Given the description of an element on the screen output the (x, y) to click on. 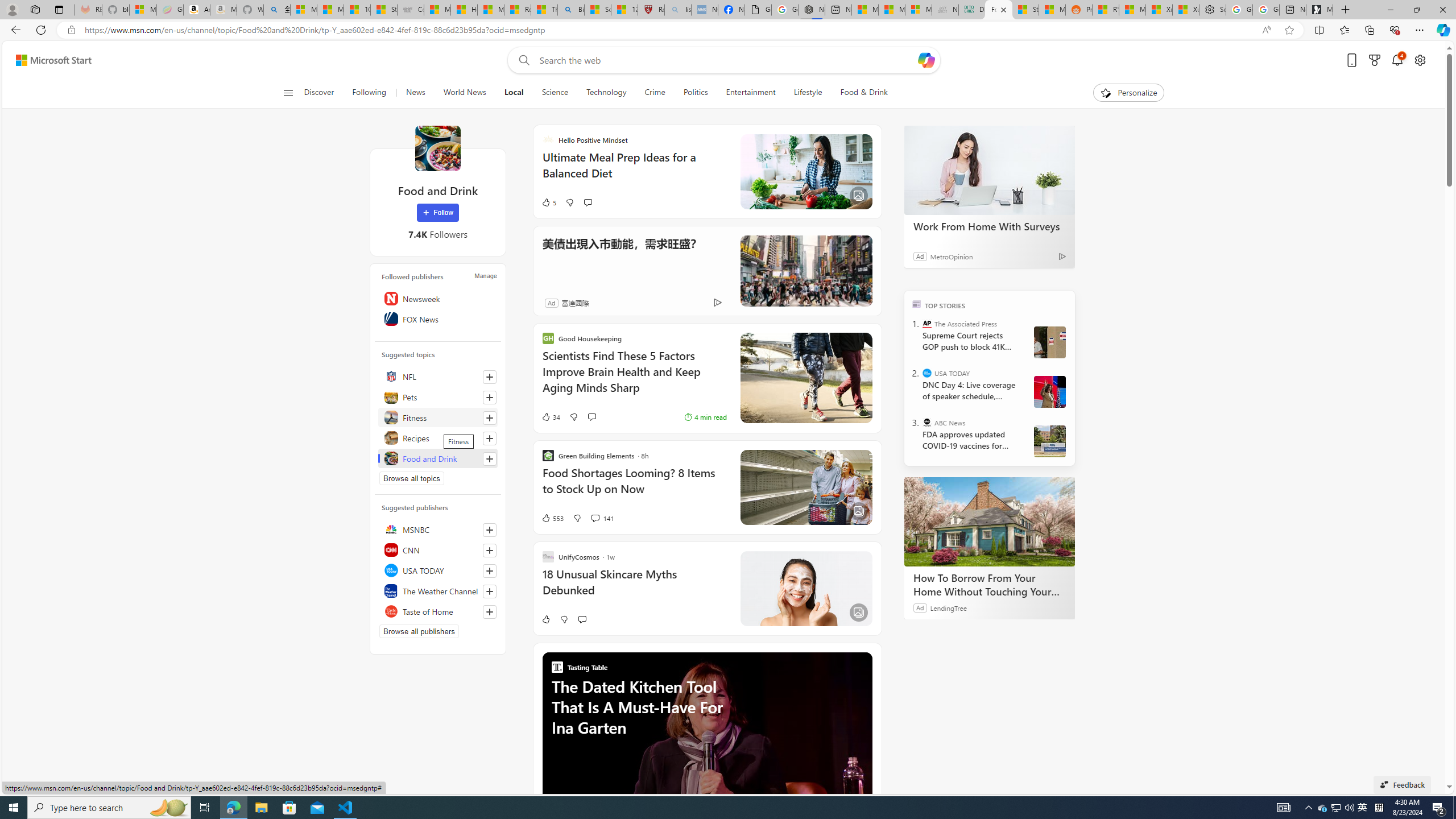
Nordace - Nordace Siena Is Not An Ordinary Backpack (811, 9)
Food and Drink (437, 458)
Navy Quest (945, 9)
Follow this topic (489, 458)
Notifications (1397, 60)
TOP (916, 302)
Food & Drink (859, 92)
